Given the description of an element on the screen output the (x, y) to click on. 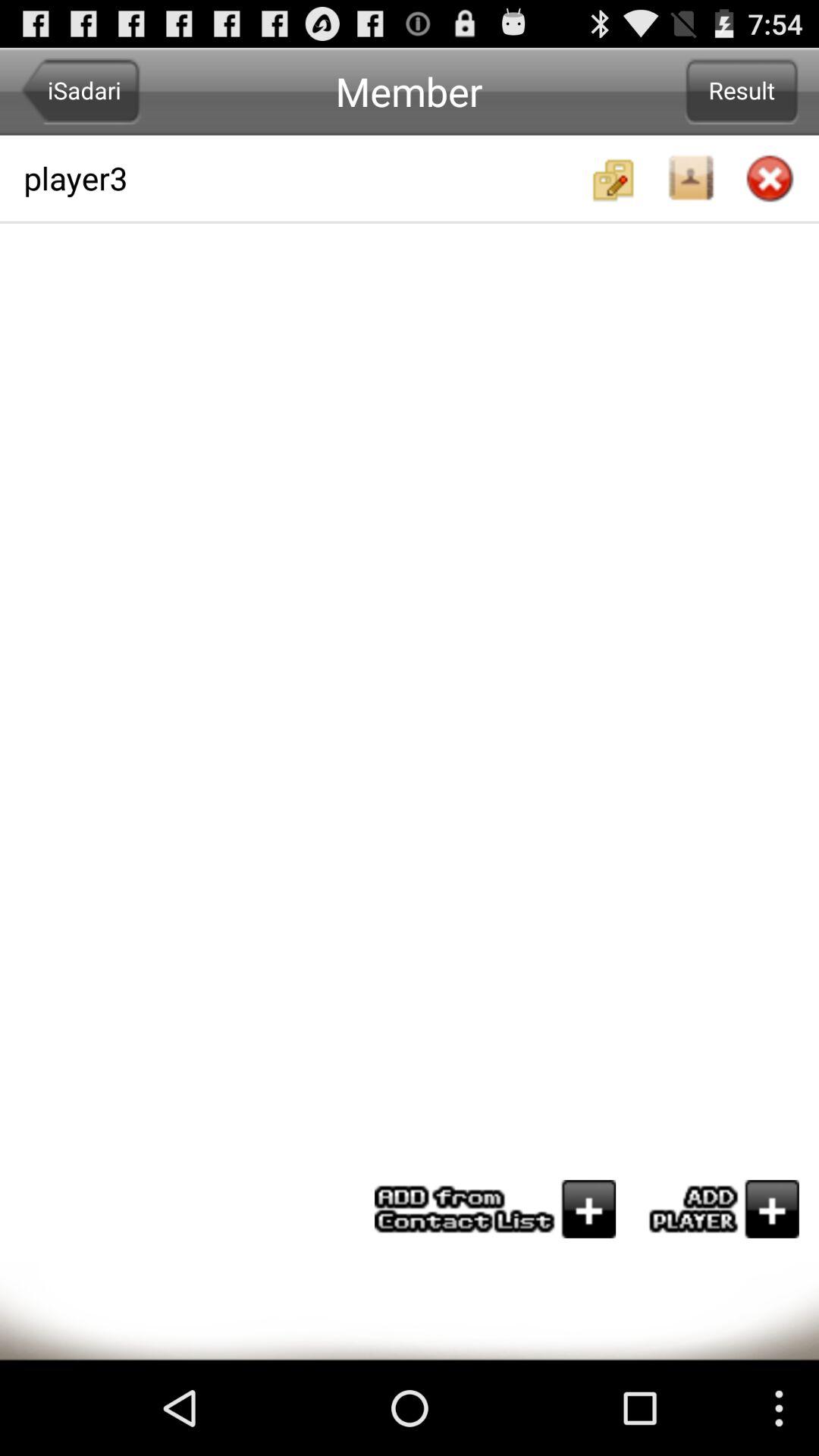
click item to the right of player3 (741, 91)
